Given the description of an element on the screen output the (x, y) to click on. 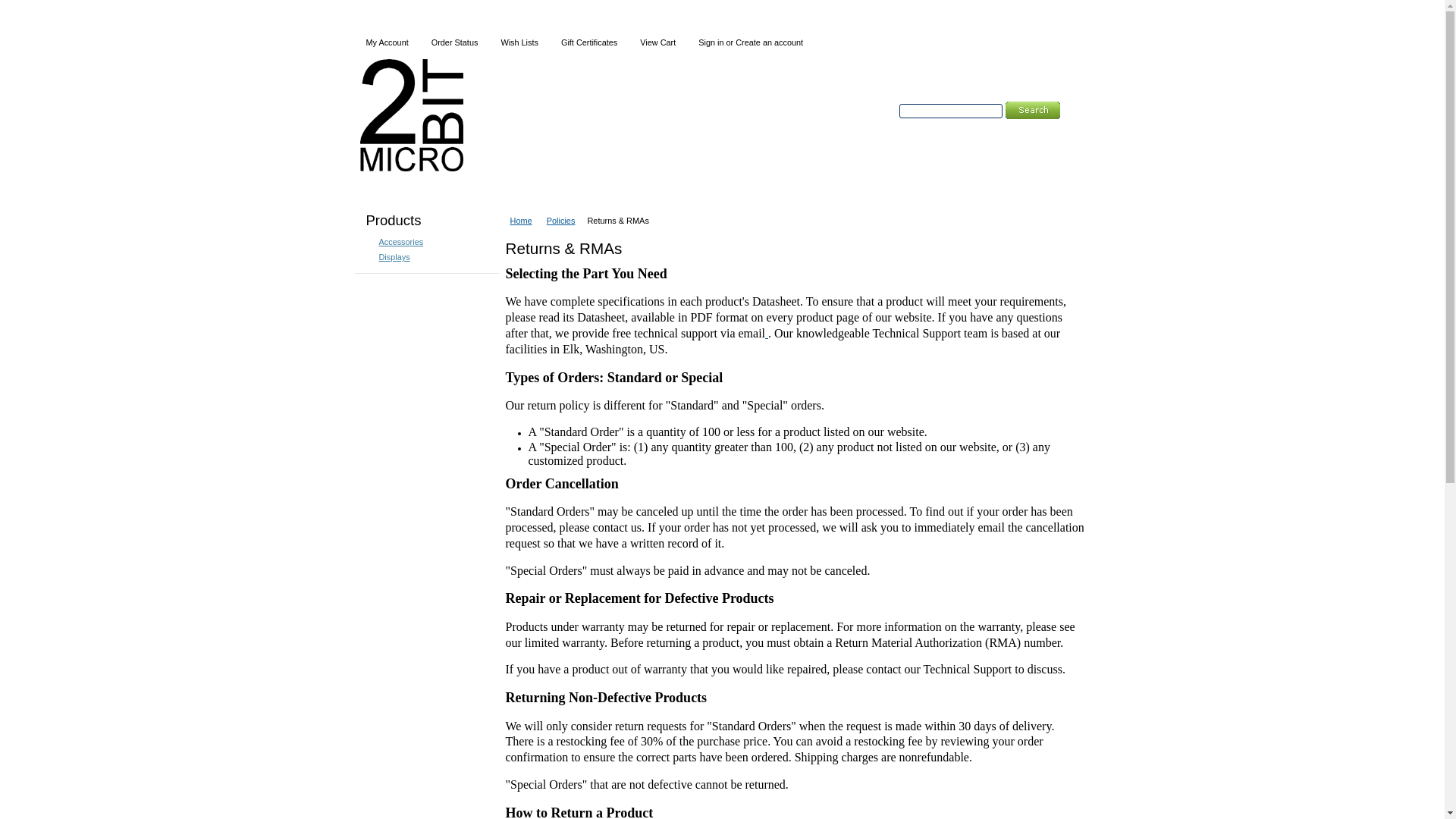
Home Element type: text (524, 220)
Policies Element type: text (544, 187)
Policies Element type: text (564, 220)
My Account Element type: text (387, 42)
Displays Element type: text (388, 256)
  Element type: text (766, 334)
Sign in Element type: text (710, 42)
Contact Us Element type: text (465, 187)
View Cart Element type: text (657, 42)
Order Status Element type: text (454, 42)
Gift Certificates Element type: text (588, 42)
Create an account Element type: text (769, 42)
Advanced Search Element type: text (937, 127)
Accessories Element type: text (395, 241)
Search Tips Element type: text (1000, 127)
Wish Lists Element type: text (519, 42)
Home Element type: text (388, 187)
